Given the description of an element on the screen output the (x, y) to click on. 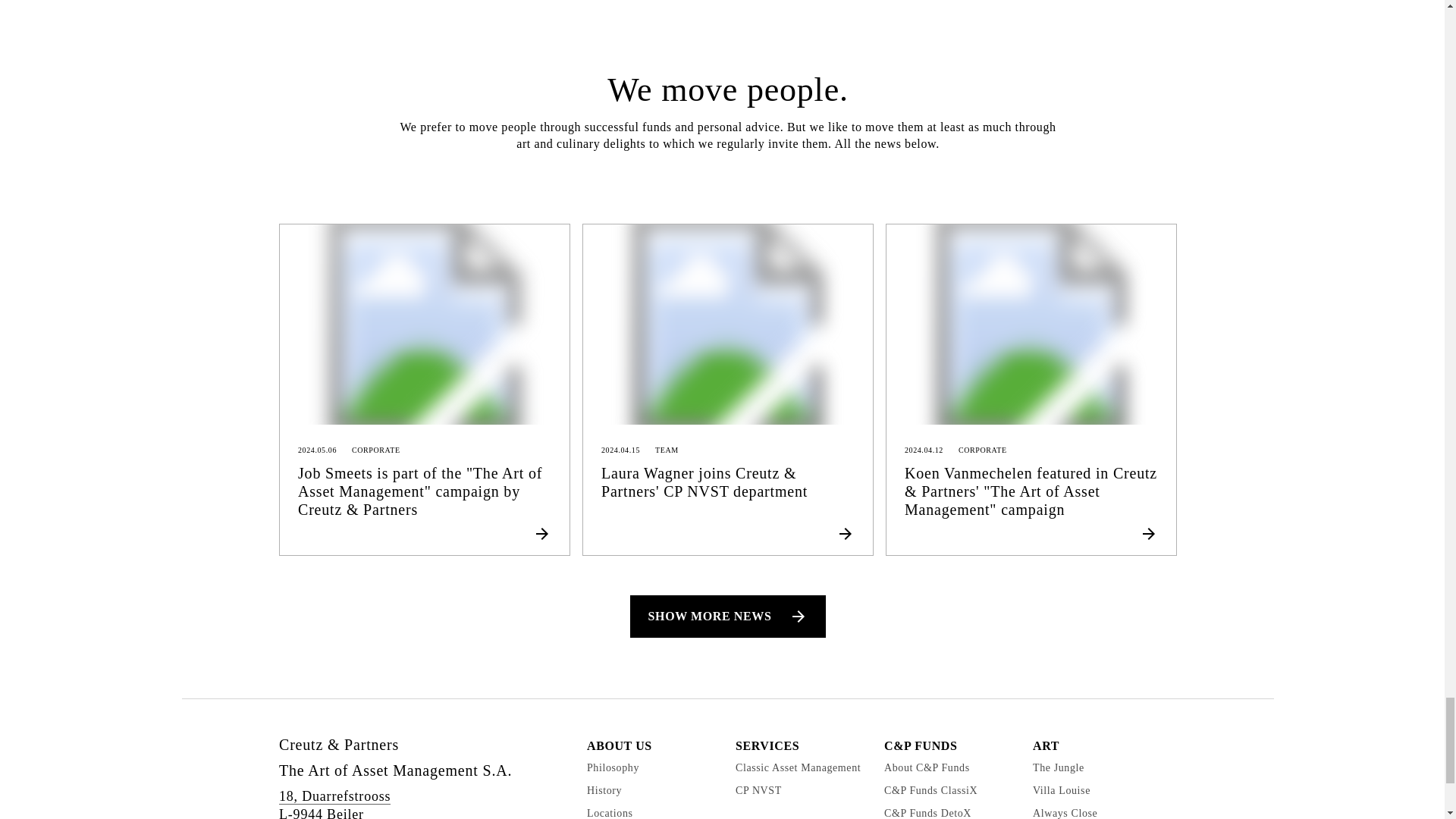
SERVICES (767, 745)
Classic Asset Management (797, 767)
History (603, 790)
18, Duarrefstrooss (334, 796)
CP NVST (758, 790)
Philosophy (612, 767)
ABOUT US (619, 745)
Locations (609, 813)
L-9944 Beiler (321, 812)
SHOW MORE NEWS (728, 616)
